Given the description of an element on the screen output the (x, y) to click on. 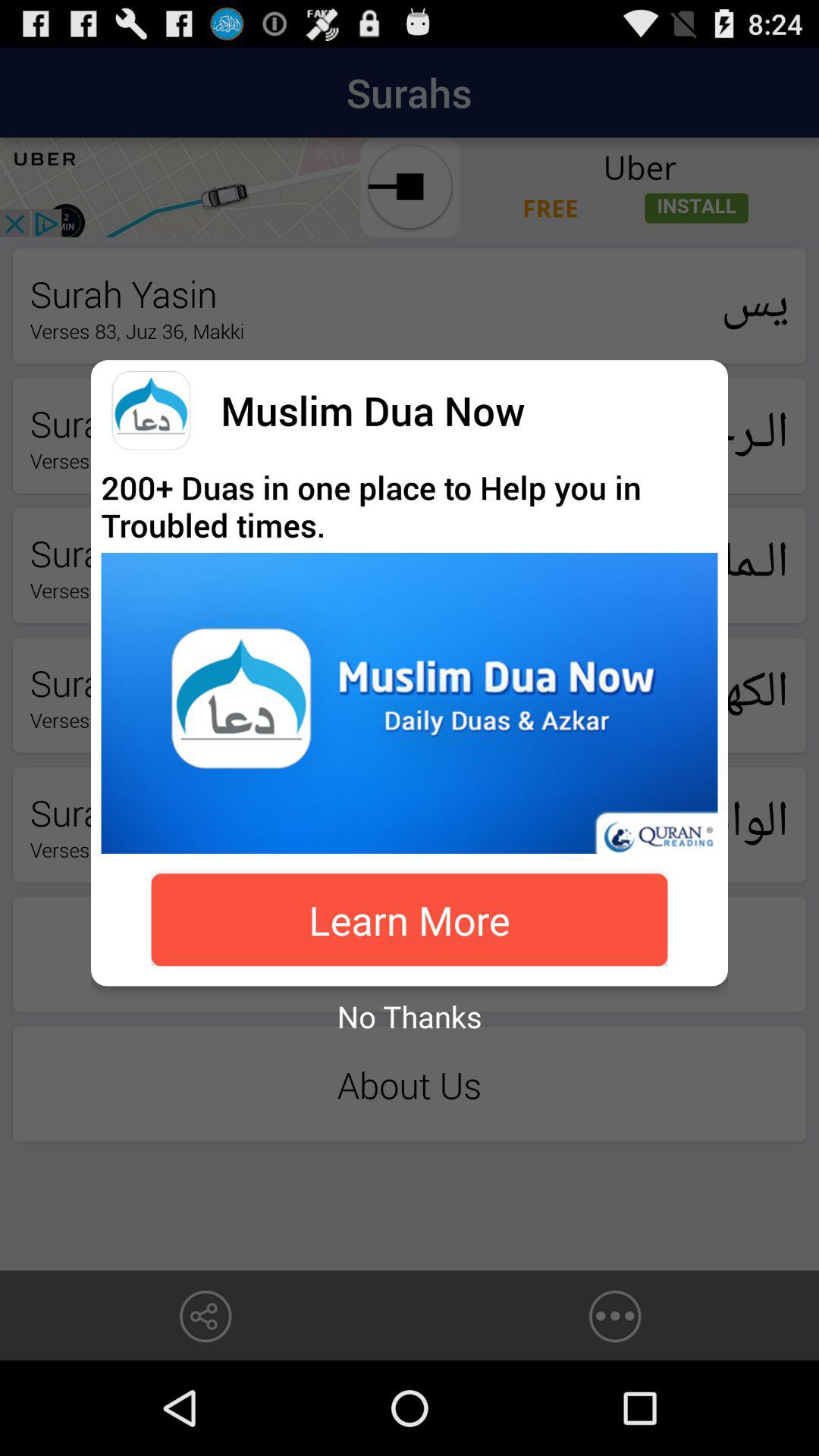
flip until learn more item (409, 919)
